Given the description of an element on the screen output the (x, y) to click on. 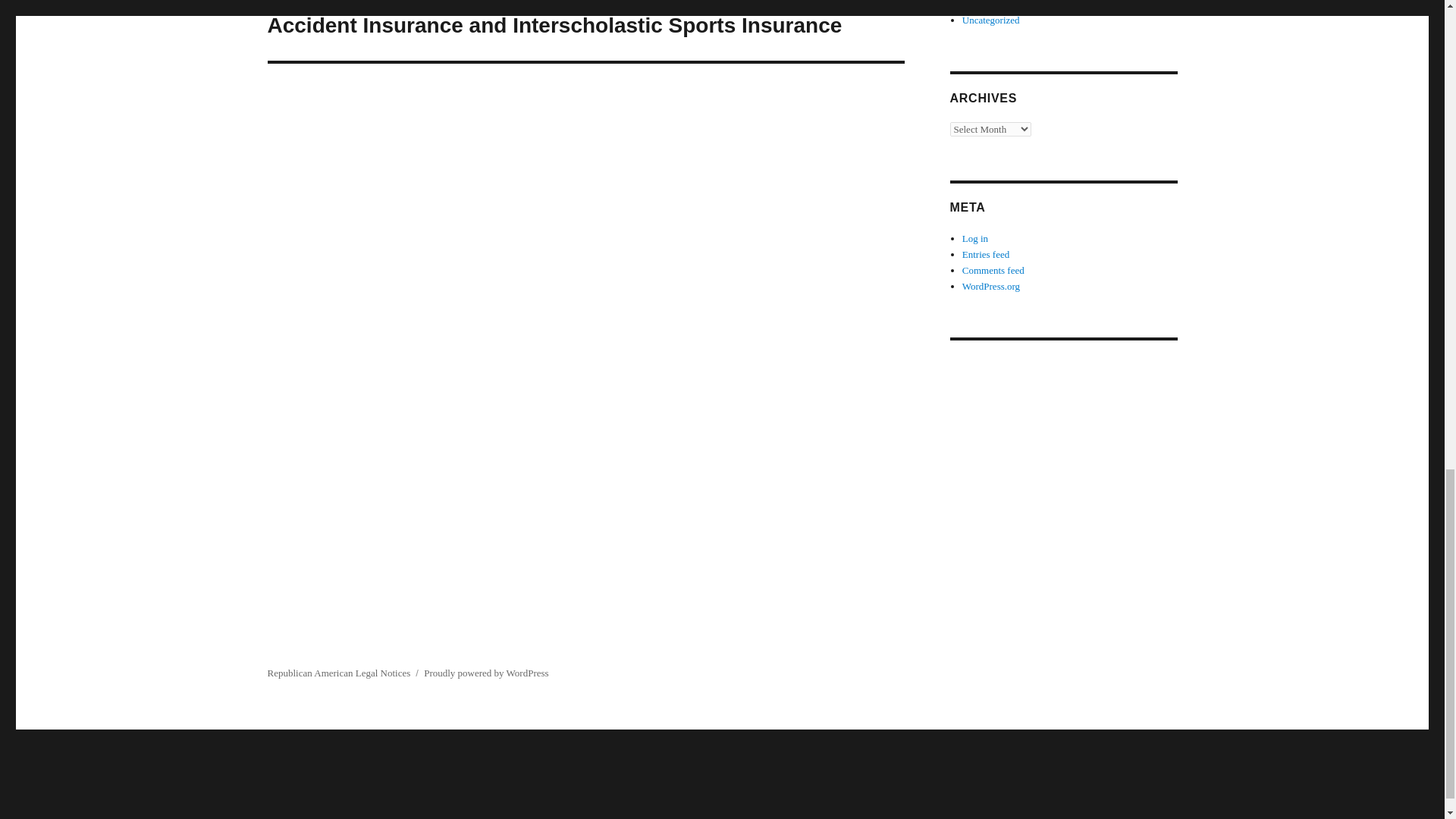
Log in (975, 238)
Uncategorized (991, 19)
3rd party ad content (1062, 457)
WordPress.org (991, 285)
Comments feed (993, 270)
3rd party ad content (721, 779)
Tax (969, 4)
Proudly powered by WordPress (485, 672)
Entries feed (985, 254)
Republican American Legal Notices (338, 672)
